Given the description of an element on the screen output the (x, y) to click on. 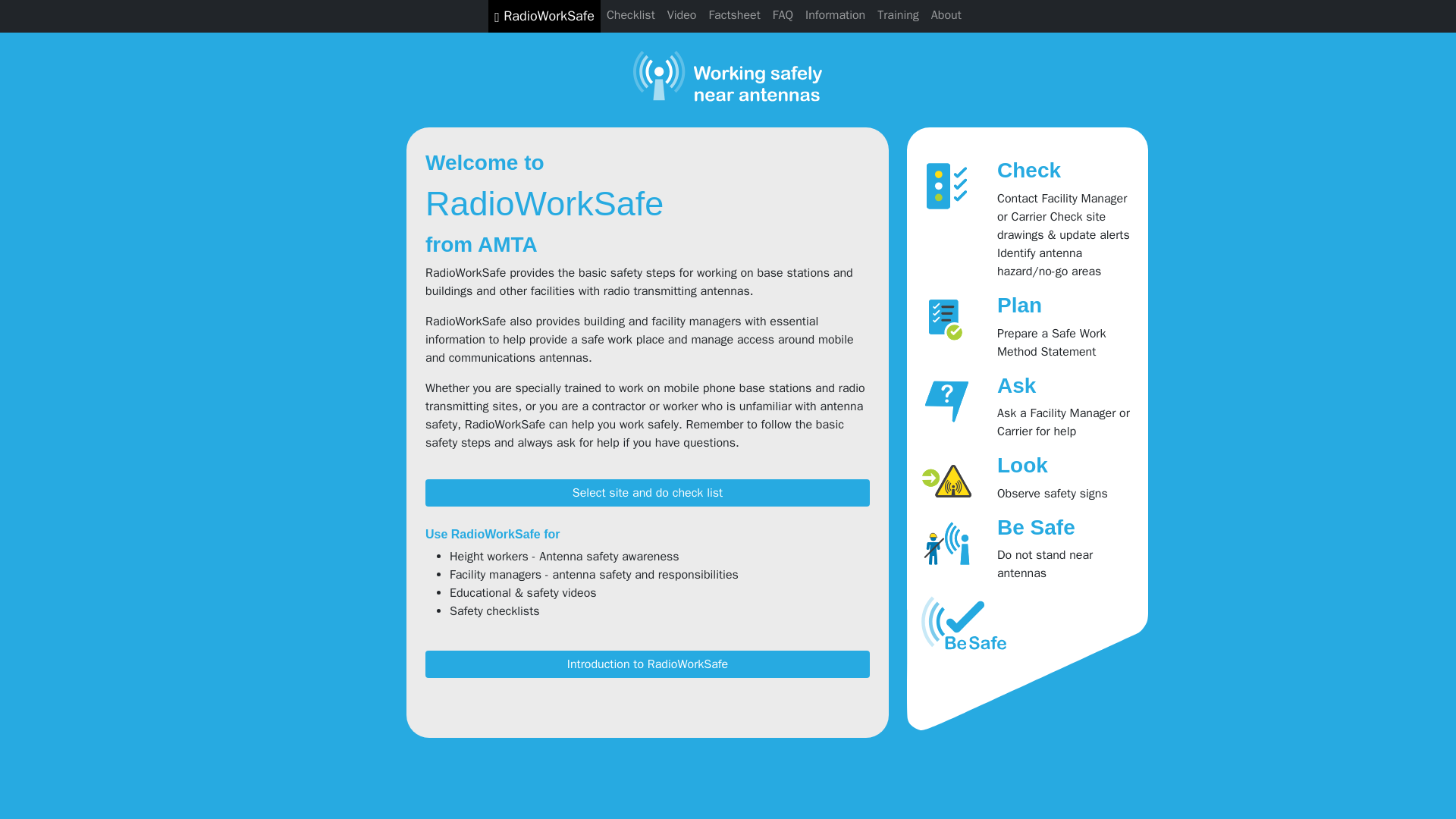
Factsheet (733, 15)
Select site and do check list (647, 492)
Video (682, 15)
RadioWorkSafe (543, 16)
FAQ (783, 15)
Introduction to RadioWorkSafe (647, 664)
About (946, 15)
Training (897, 15)
Checklist (630, 15)
Information (834, 15)
